Given the description of an element on the screen output the (x, y) to click on. 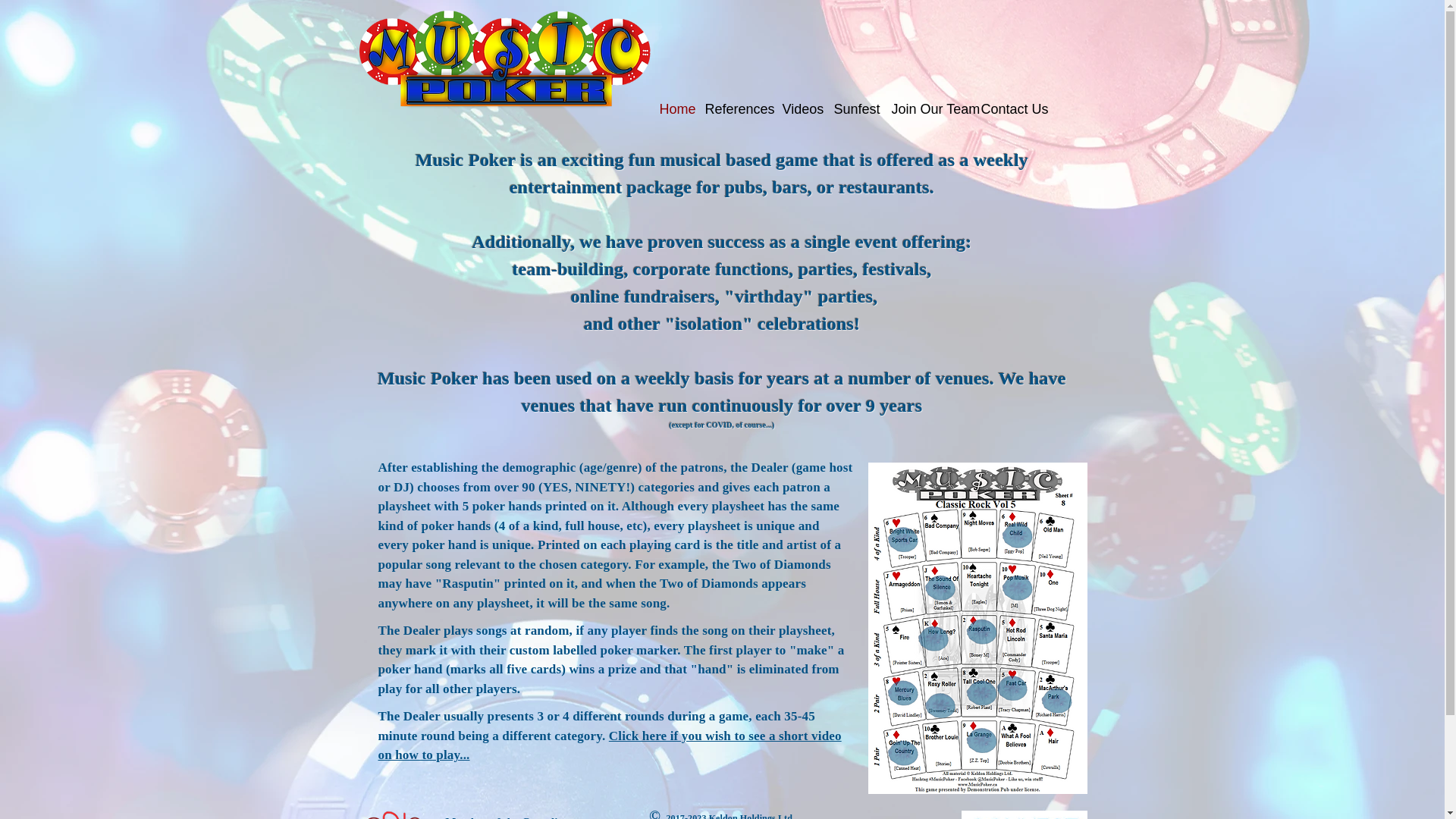
References (735, 109)
Join Our Team (928, 109)
Home (674, 109)
Contact Us (1011, 109)
Videos (800, 109)
Sunfest (855, 109)
